Given the description of an element on the screen output the (x, y) to click on. 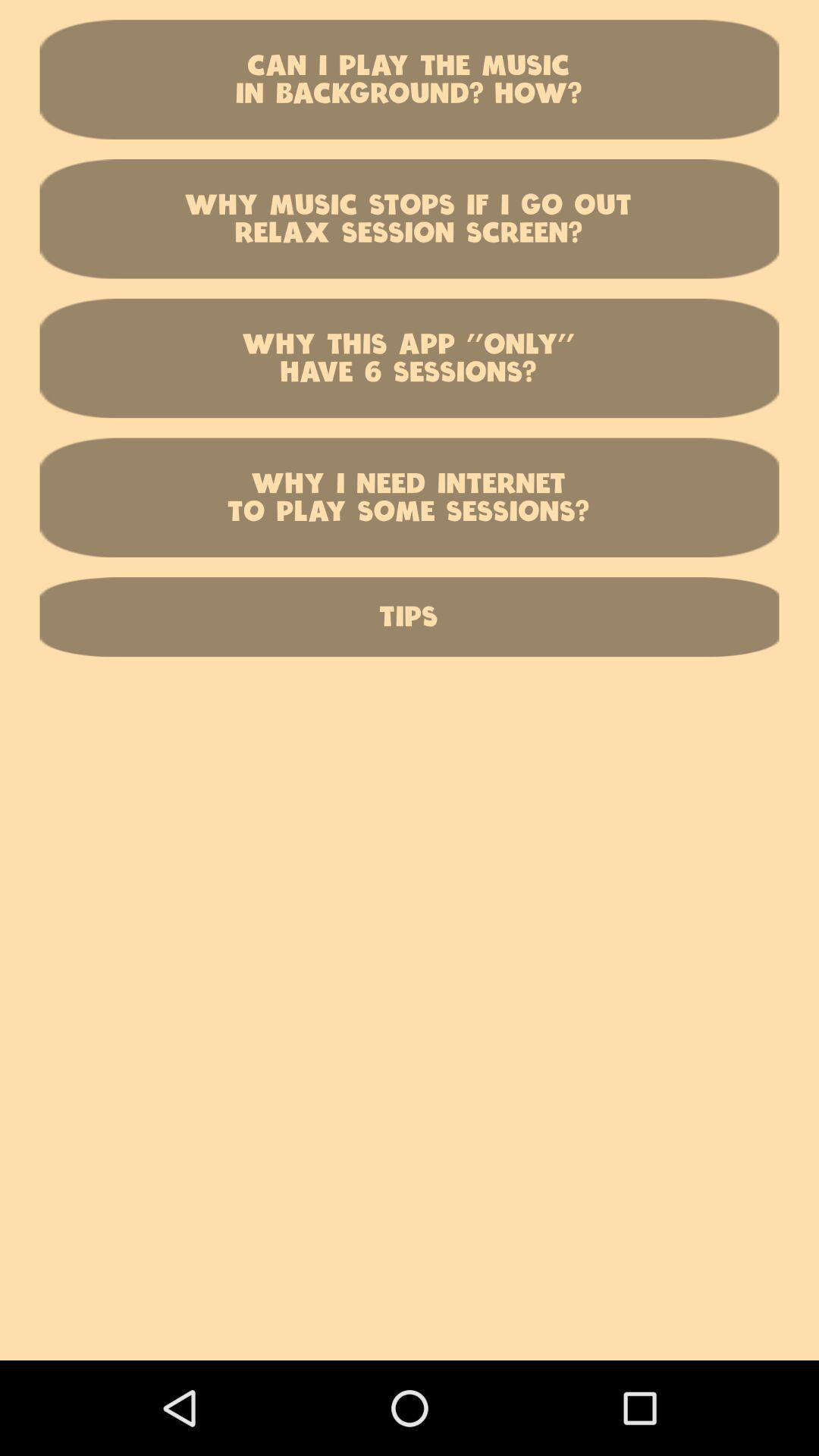
tap why this app button (409, 358)
